Given the description of an element on the screen output the (x, y) to click on. 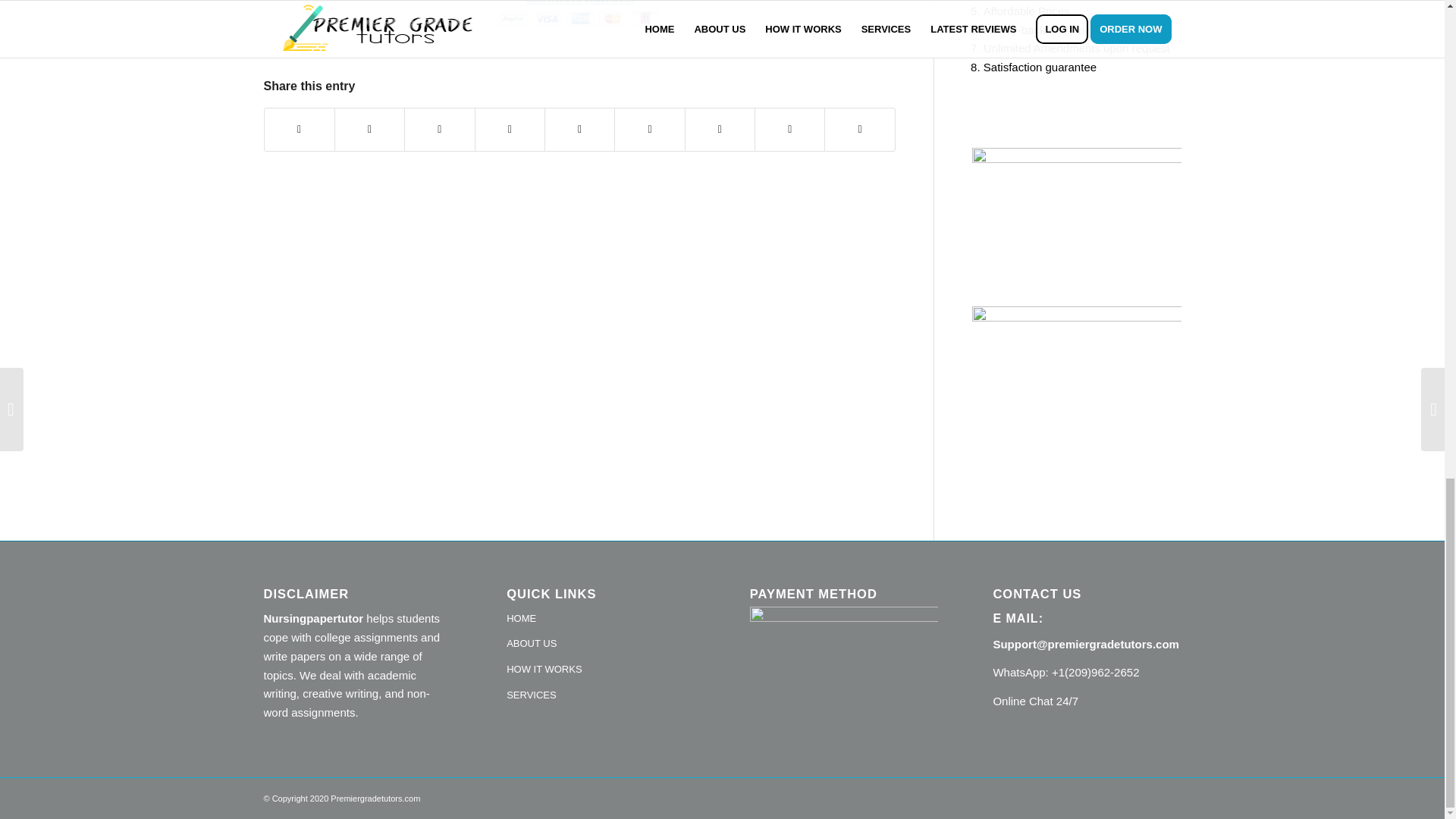
HOW IT WORKS (600, 670)
SERVICES (600, 696)
HOME (600, 619)
ABOUT US (600, 644)
